Given the description of an element on the screen output the (x, y) to click on. 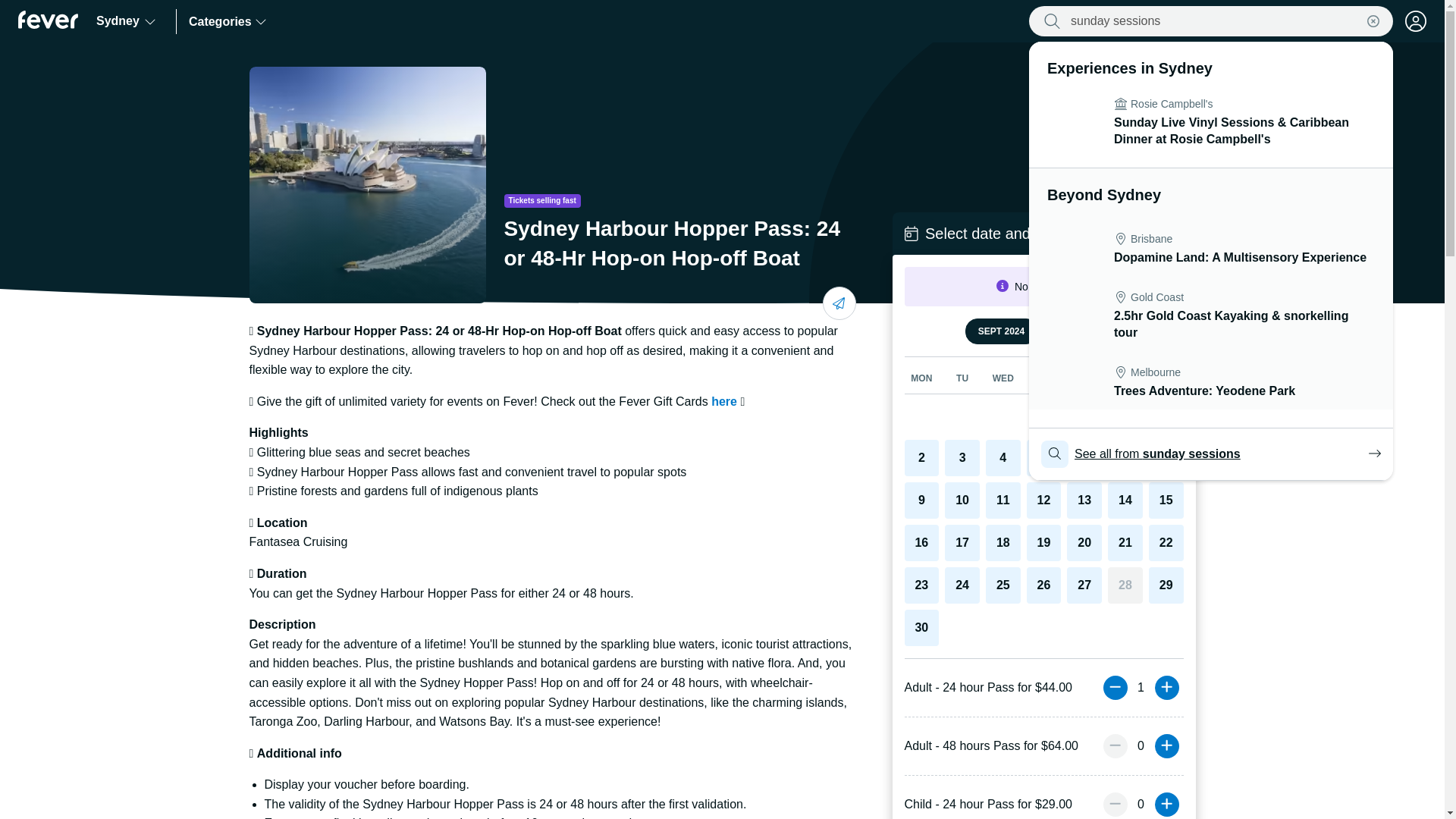
See all from sunday sessions (1211, 453)
sunday sessions (1214, 21)
Sydney (126, 21)
Dopamine Land: A Multisensory Experience - View details (1210, 248)
sunday sessions (1210, 381)
Trees Adventure: Yeodene Park - View details (1214, 21)
Sydney Harbour Hopper Pass: 24 or 48-Hr Hop-on Hop-off Boat (1210, 381)
